Given the description of an element on the screen output the (x, y) to click on. 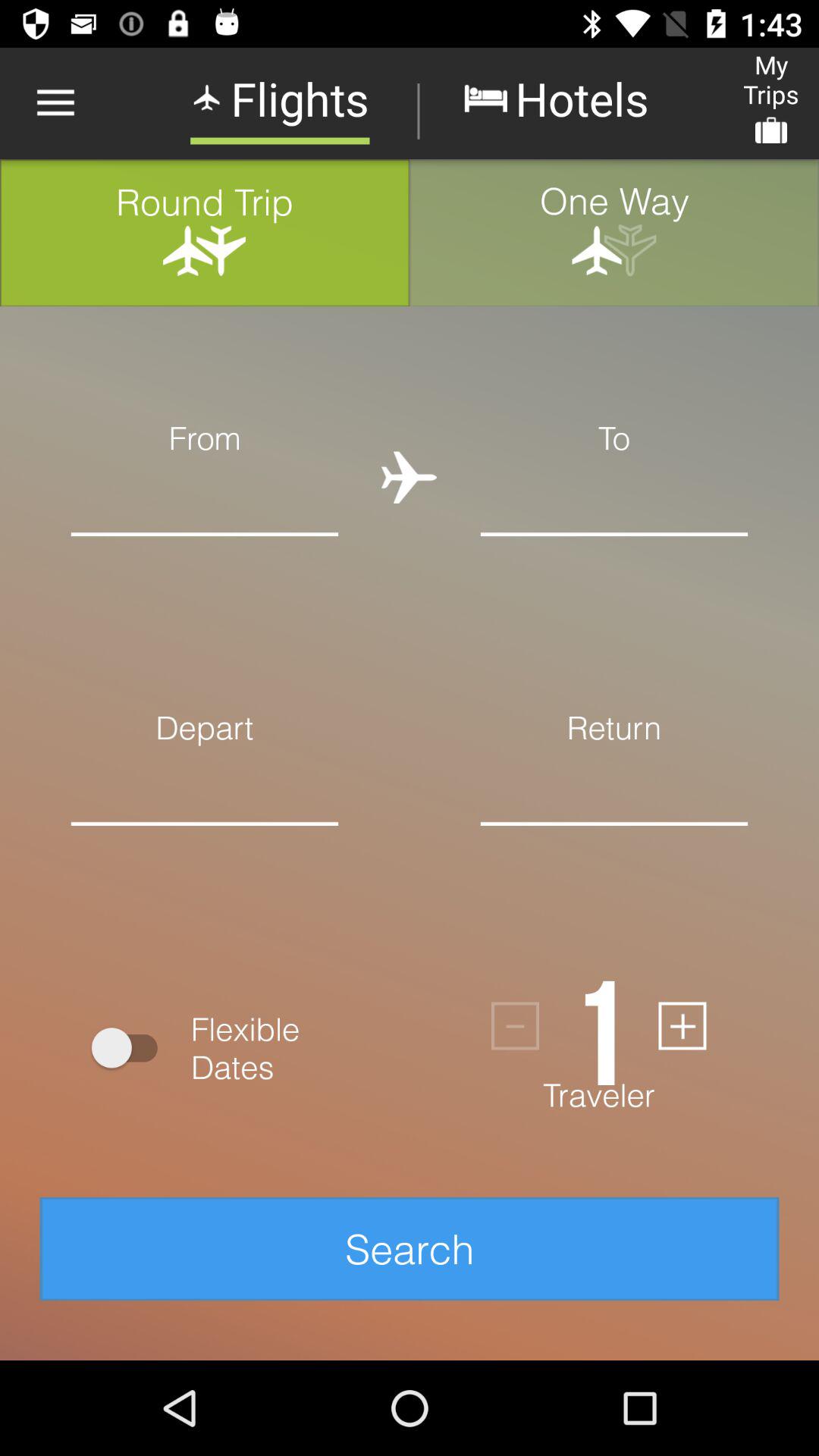
select icon above the search item (131, 1047)
